Given the description of an element on the screen output the (x, y) to click on. 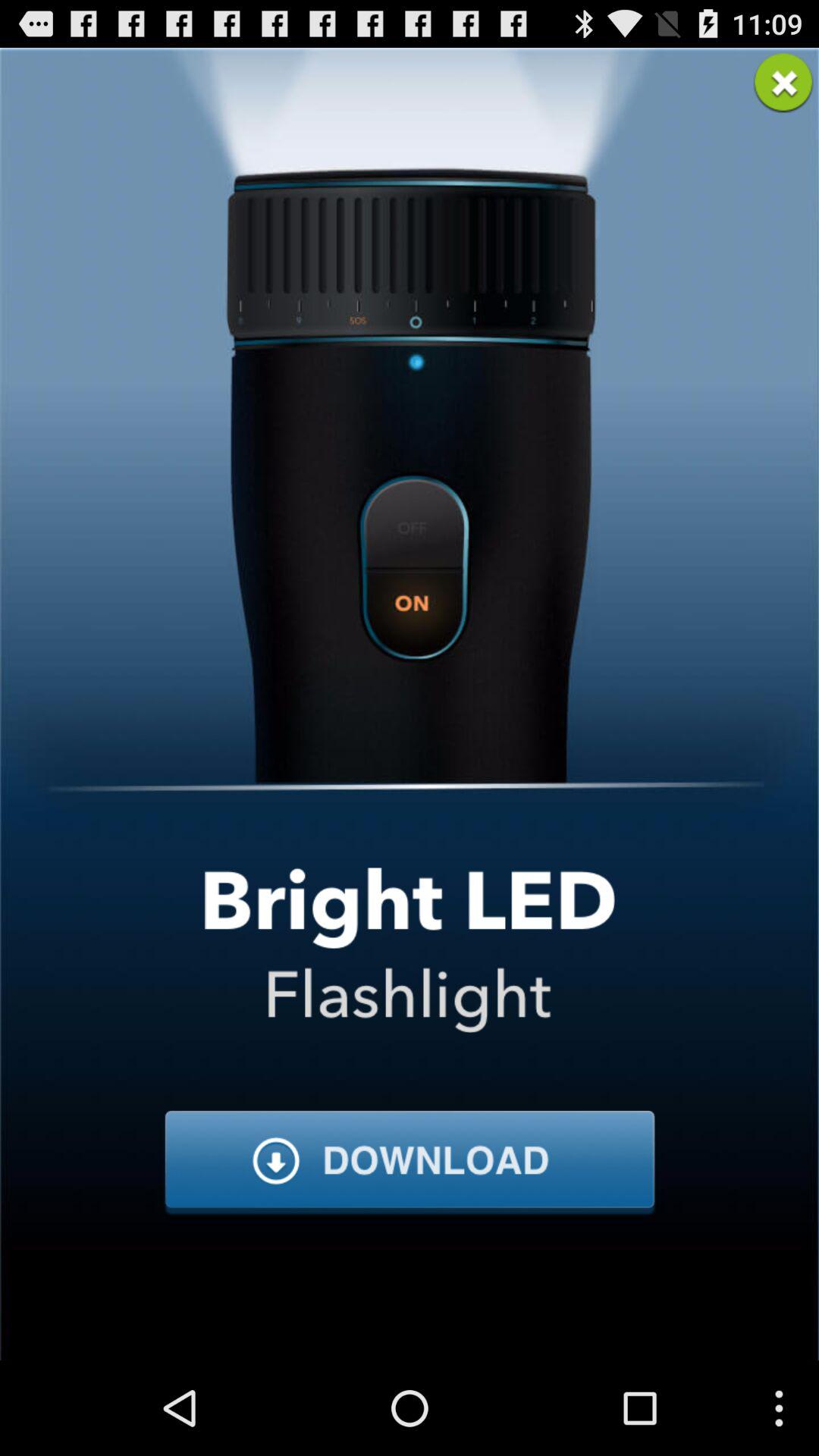
close advertisement (783, 83)
